Given the description of an element on the screen output the (x, y) to click on. 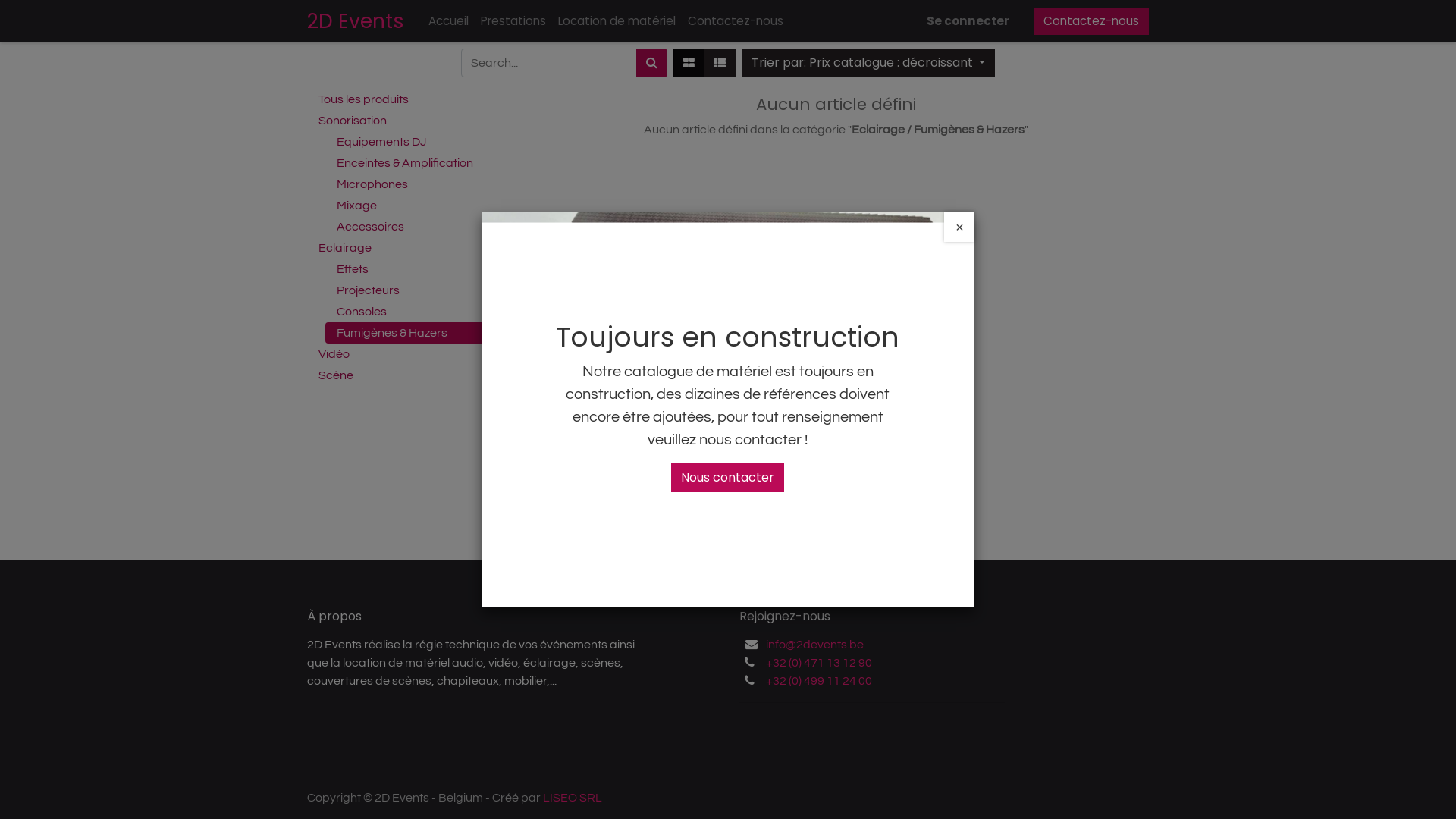
Consoles Element type: text (412, 311)
Effets Element type: text (412, 268)
Microphones Element type: text (412, 183)
Enceintes & Amplification Element type: text (412, 162)
+32 (0) 471 13 12 90 Element type: text (818, 662)
LISEO SRL Element type: text (572, 797)
Accessoires Element type: text (412, 226)
Se connecter Element type: text (967, 21)
Rechercher Element type: hover (651, 62)
Accueil Element type: text (448, 21)
info@2devents.be Element type: text (814, 644)
Contactez-nous Element type: text (735, 21)
Eclairage Element type: text (403, 247)
Mixage Element type: text (412, 205)
+32 (0) 499 11 24 00 Element type: text (818, 680)
Tarifs Element type: hover (688, 62)
Projecteurs Element type: text (412, 290)
Sonorisation Element type: text (403, 120)
Contactez-nous Element type: text (1090, 21)
2D Events Element type: text (355, 21)
Prestations Element type: text (513, 21)
Equipements DJ Element type: text (412, 141)
Liste Element type: hover (719, 62)
Tous les produits Element type: text (403, 98)
